Given the description of an element on the screen output the (x, y) to click on. 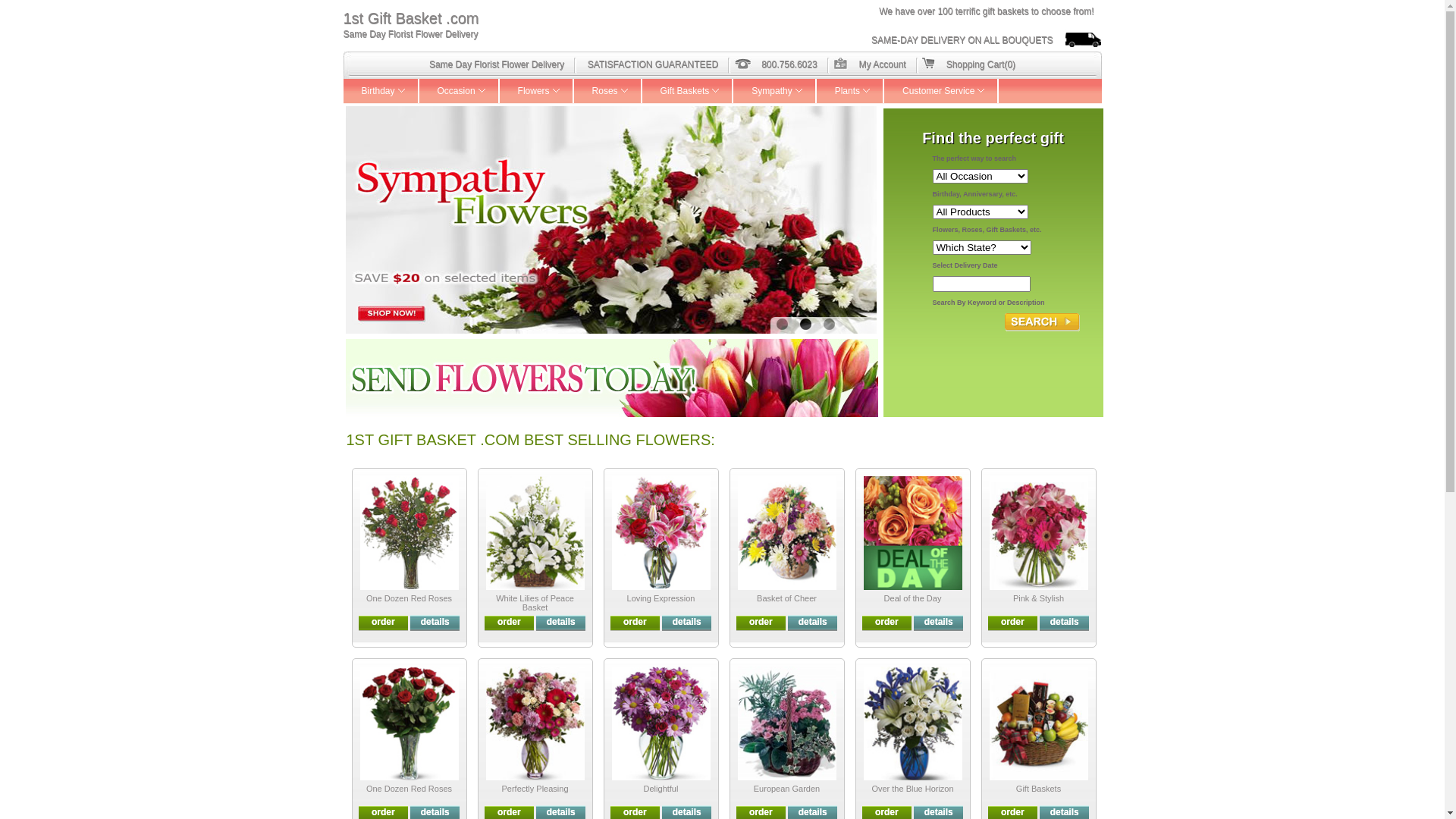
order Element type: text (382, 811)
Delightful Element type: text (660, 788)
Plants Element type: text (850, 90)
Customer Service Element type: text (941, 90)
order Element type: text (1012, 621)
Roses Element type: text (608, 90)
order Element type: text (886, 621)
details Element type: text (434, 811)
Deal of the Day Element type: text (912, 597)
order Element type: text (508, 621)
details Element type: text (812, 811)
One Dozen Red Roses Element type: text (408, 788)
details Element type: text (938, 621)
details Element type: text (1063, 811)
Gift Baskets Element type: text (688, 90)
details Element type: text (686, 811)
details Element type: text (560, 621)
Perfectly Pleasing Element type: text (534, 788)
order Element type: text (760, 811)
Flowers Element type: text (536, 90)
order Element type: text (886, 811)
White Lilies of Peace Basket Element type: text (534, 602)
Loving Expression Element type: text (661, 597)
Pink & Stylish Element type: text (1038, 597)
details Element type: text (1063, 621)
details Element type: text (686, 621)
Over the Blue Horizon Element type: text (912, 788)
Gift Baskets Element type: text (1038, 788)
Basket of Cheer Element type: text (786, 597)
order Element type: text (634, 811)
order Element type: text (508, 811)
order Element type: text (1012, 811)
Sympathy Element type: text (774, 90)
One Dozen Red Roses Element type: text (408, 597)
details Element type: text (812, 621)
European Garden Element type: text (786, 788)
order Element type: text (634, 621)
order Element type: text (382, 621)
details Element type: text (434, 621)
Search Element type: text (1041, 322)
details Element type: text (560, 811)
Birthday Element type: text (380, 90)
details Element type: text (938, 811)
Occasion Element type: text (459, 90)
order Element type: text (760, 621)
